Given the description of an element on the screen output the (x, y) to click on. 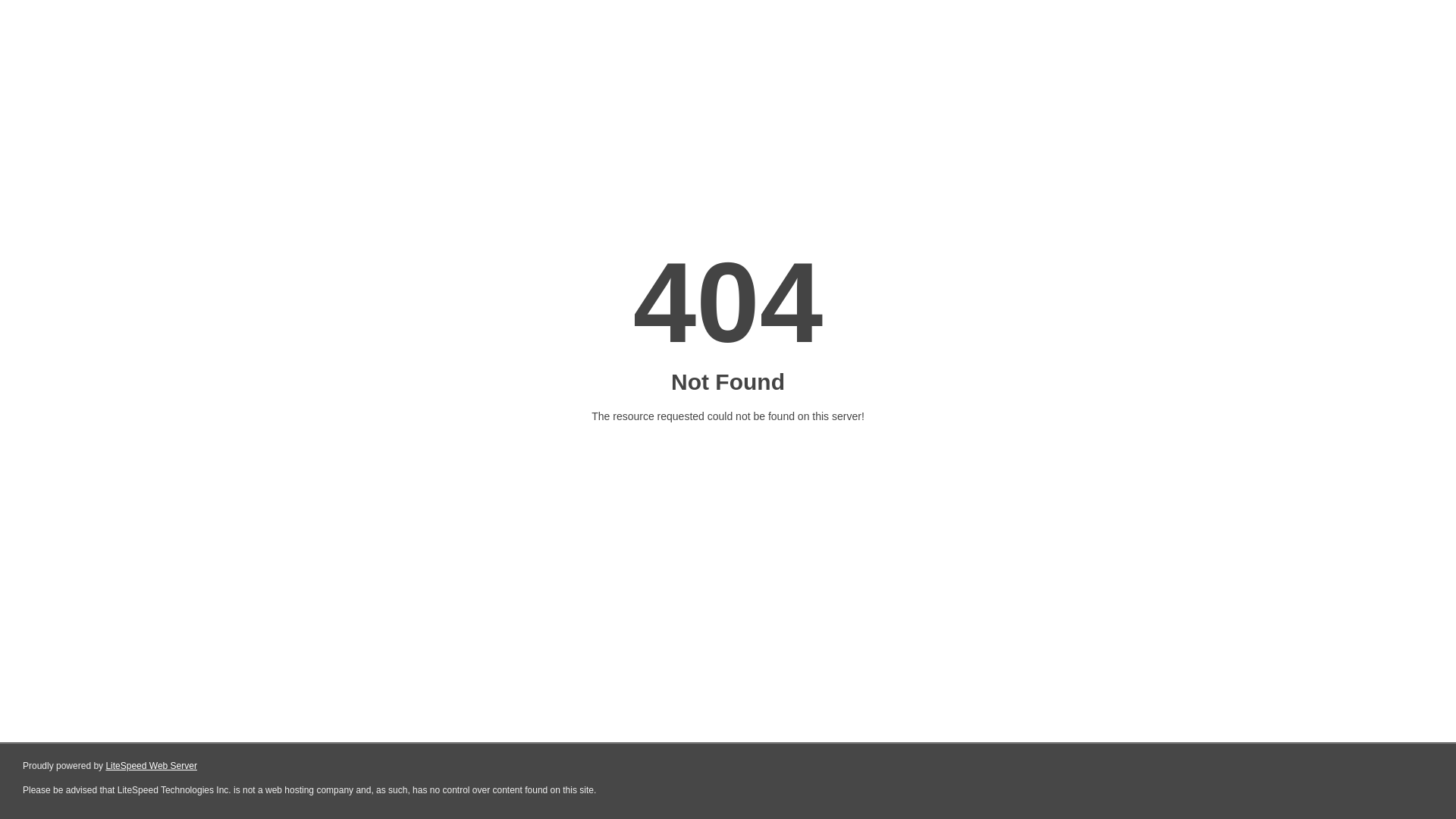
LiteSpeed Web Server Element type: text (151, 765)
